Given the description of an element on the screen output the (x, y) to click on. 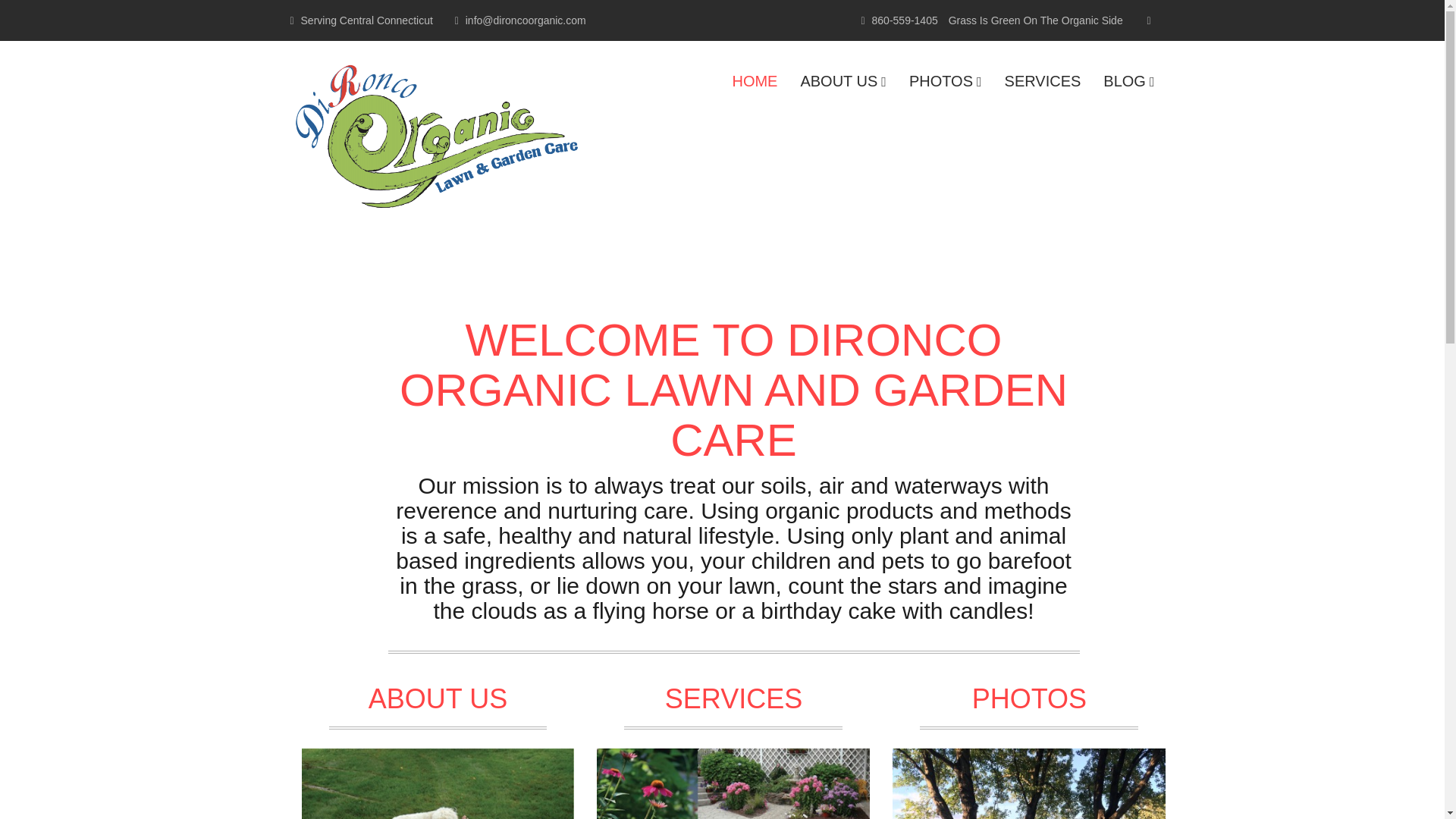
SERVICES (1042, 80)
PHOTOS (945, 80)
ABOUT US (842, 80)
BLOG (1129, 80)
HOME (754, 80)
